Given the description of an element on the screen output the (x, y) to click on. 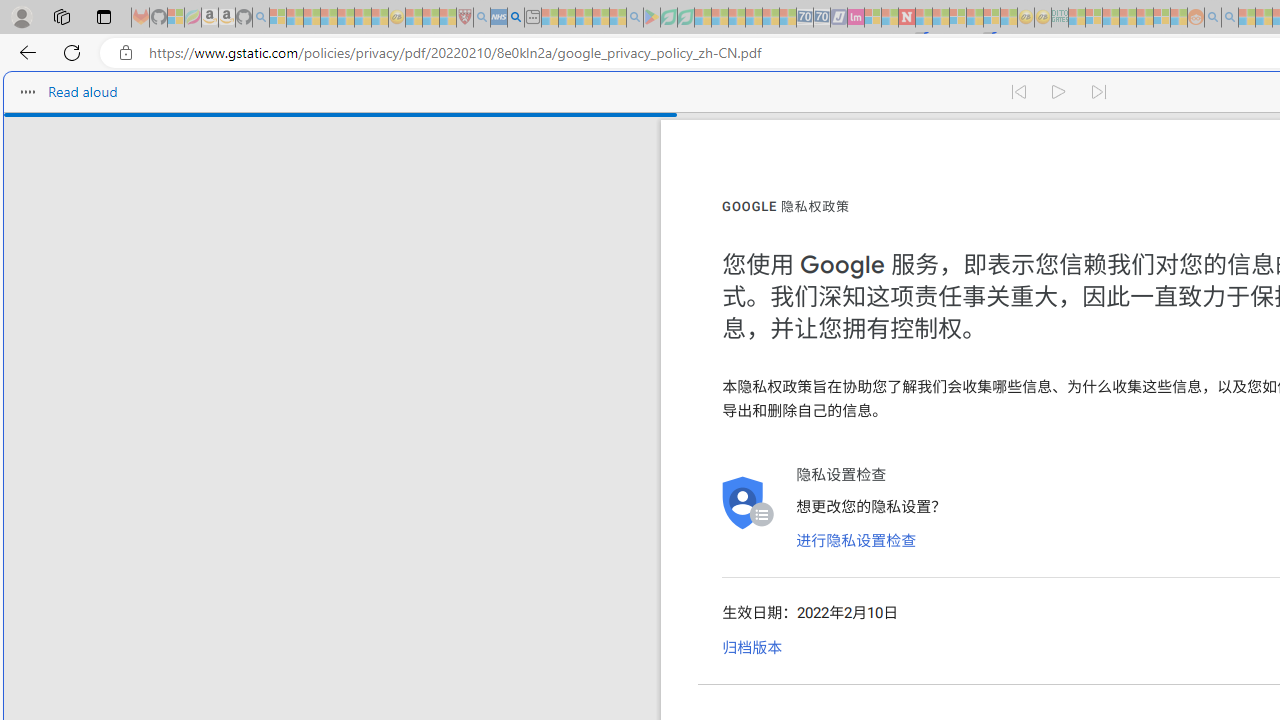
DITOGAMES AG Imprint - Sleeping (1059, 17)
MSNBC - MSN - Sleeping (1076, 17)
Read next paragraph (1099, 92)
14 Common Myths Debunked By Scientific Facts - Sleeping (940, 17)
Microsoft-Report a Concern to Bing - Sleeping (175, 17)
Trusted Community Engagement and Contributions | Guidelines (923, 17)
Terms of Use Agreement - Sleeping (668, 17)
